Given the description of an element on the screen output the (x, y) to click on. 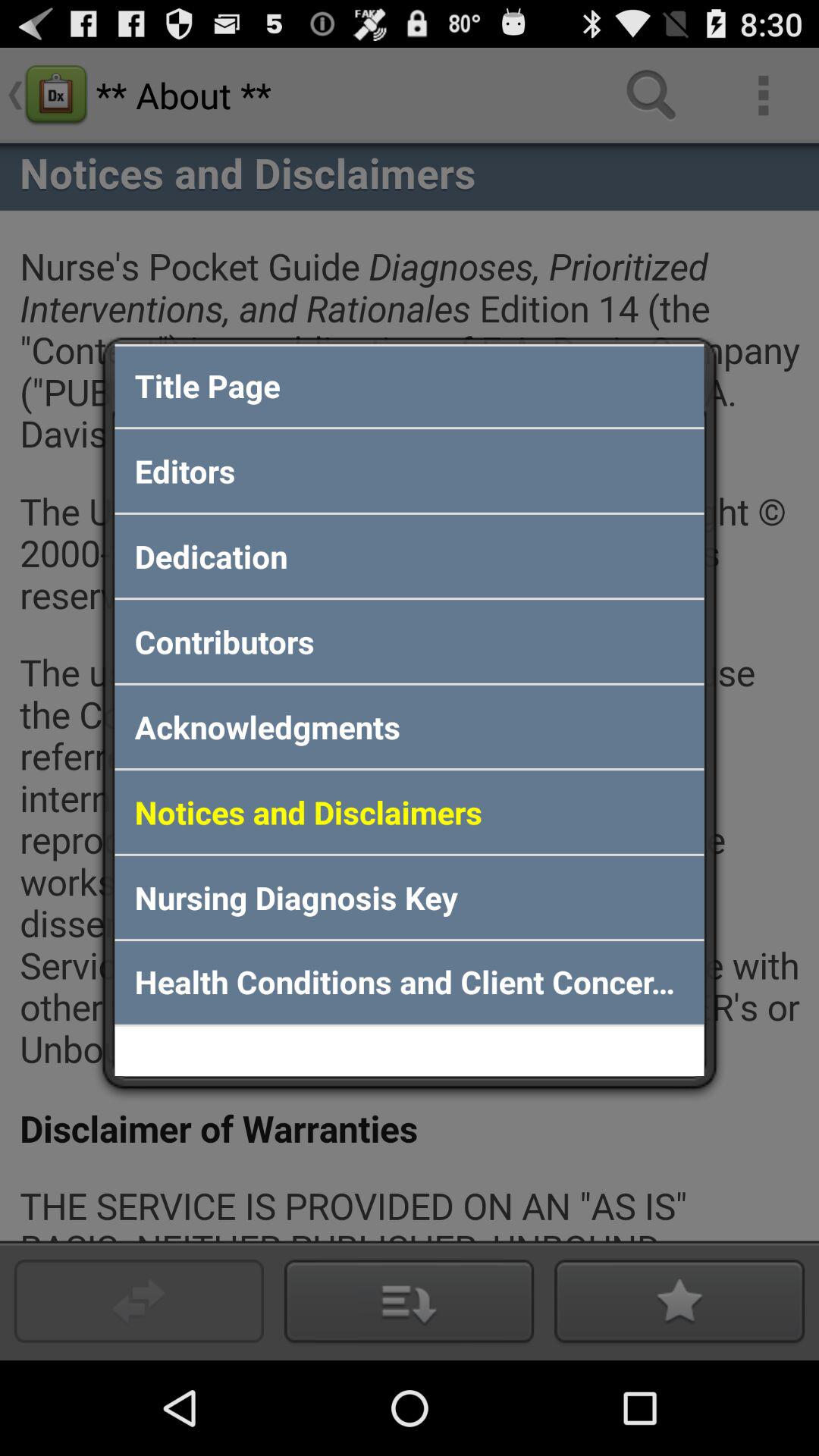
click icon below the editors item (409, 555)
